Given the description of an element on the screen output the (x, y) to click on. 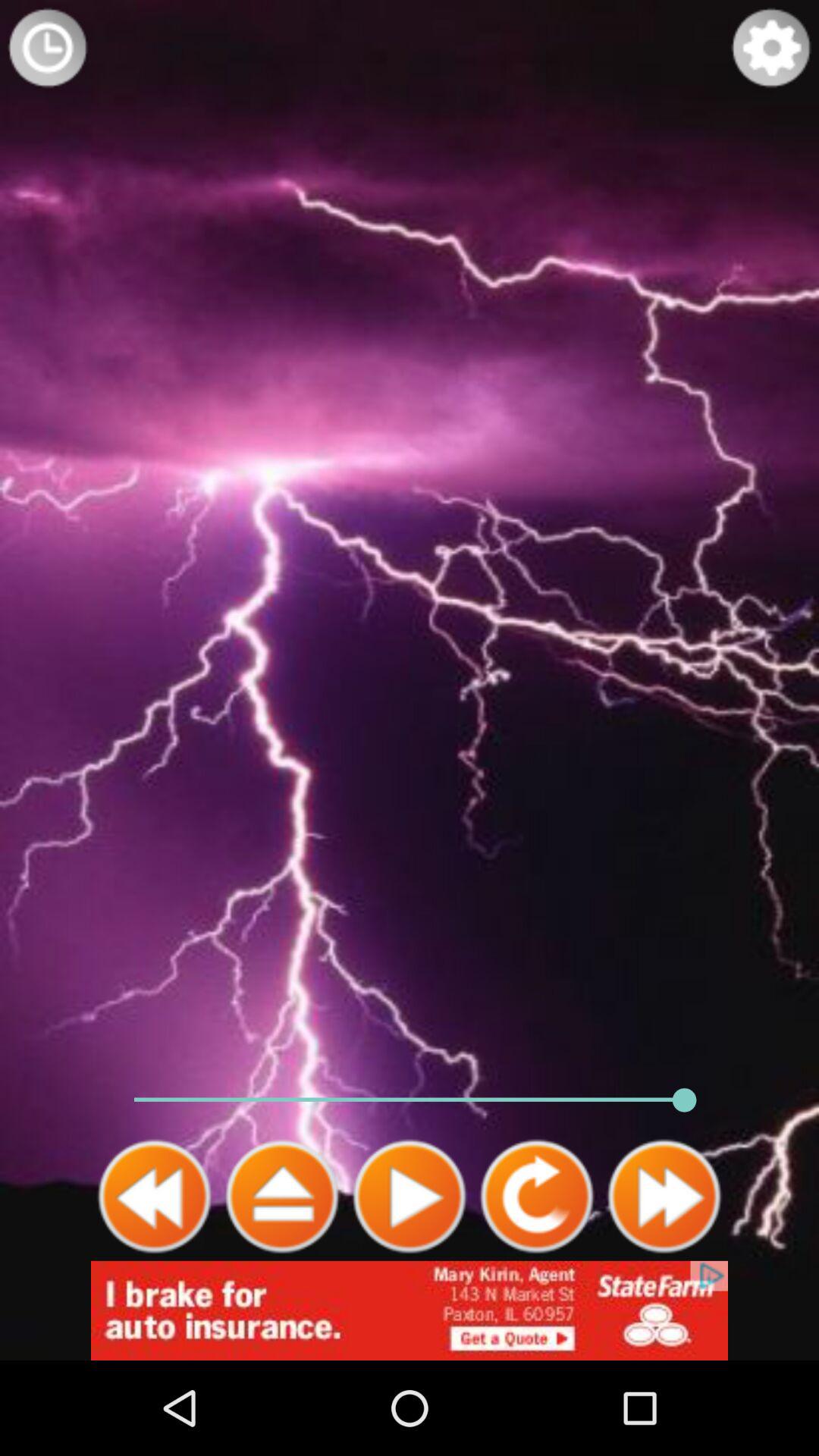
back (154, 1196)
